Given the description of an element on the screen output the (x, y) to click on. 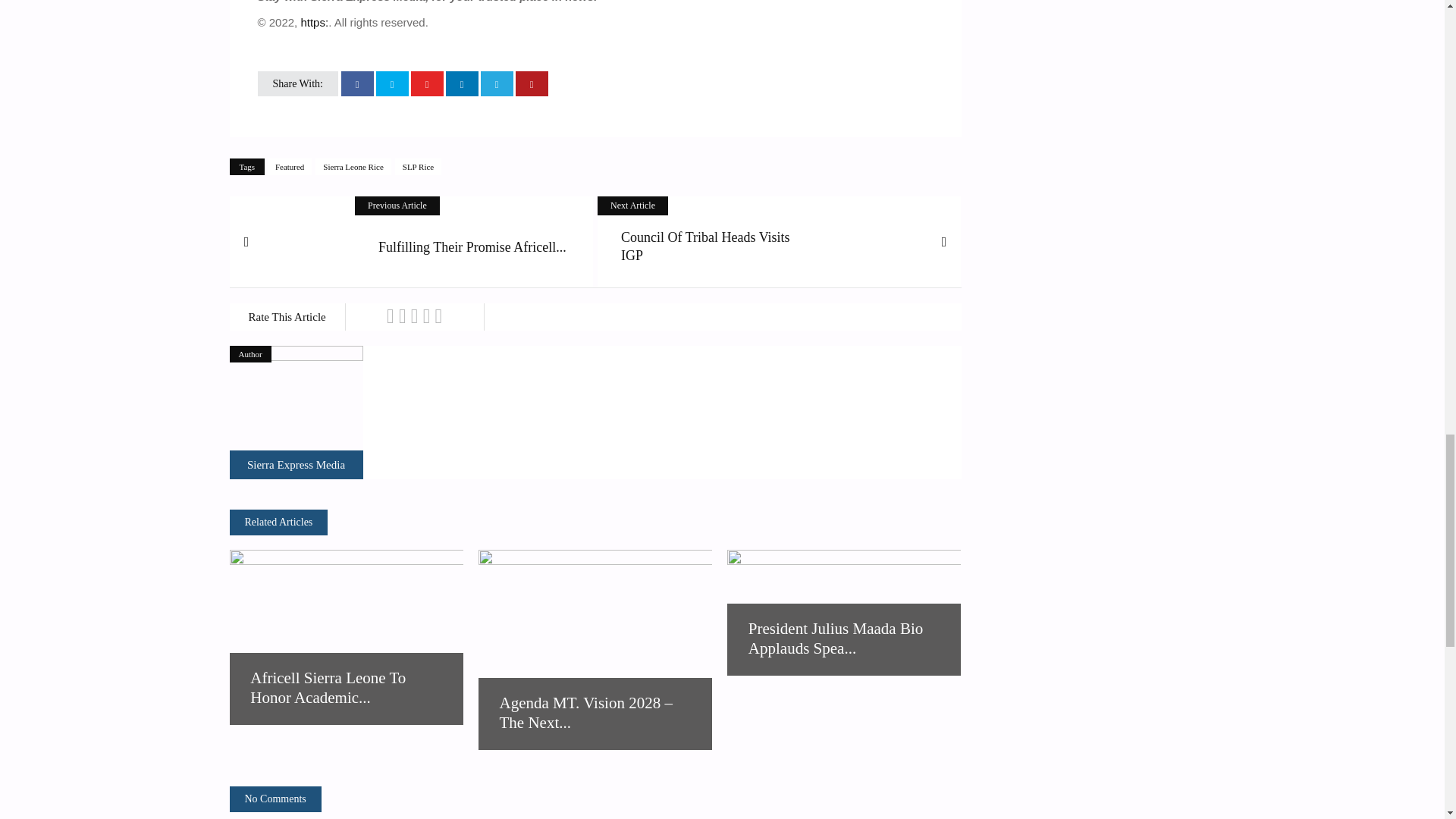
No Hidden Agenda in Police Rice Supply (295, 464)
No Hidden Agenda in Police Rice Supply (295, 412)
